Given the description of an element on the screen output the (x, y) to click on. 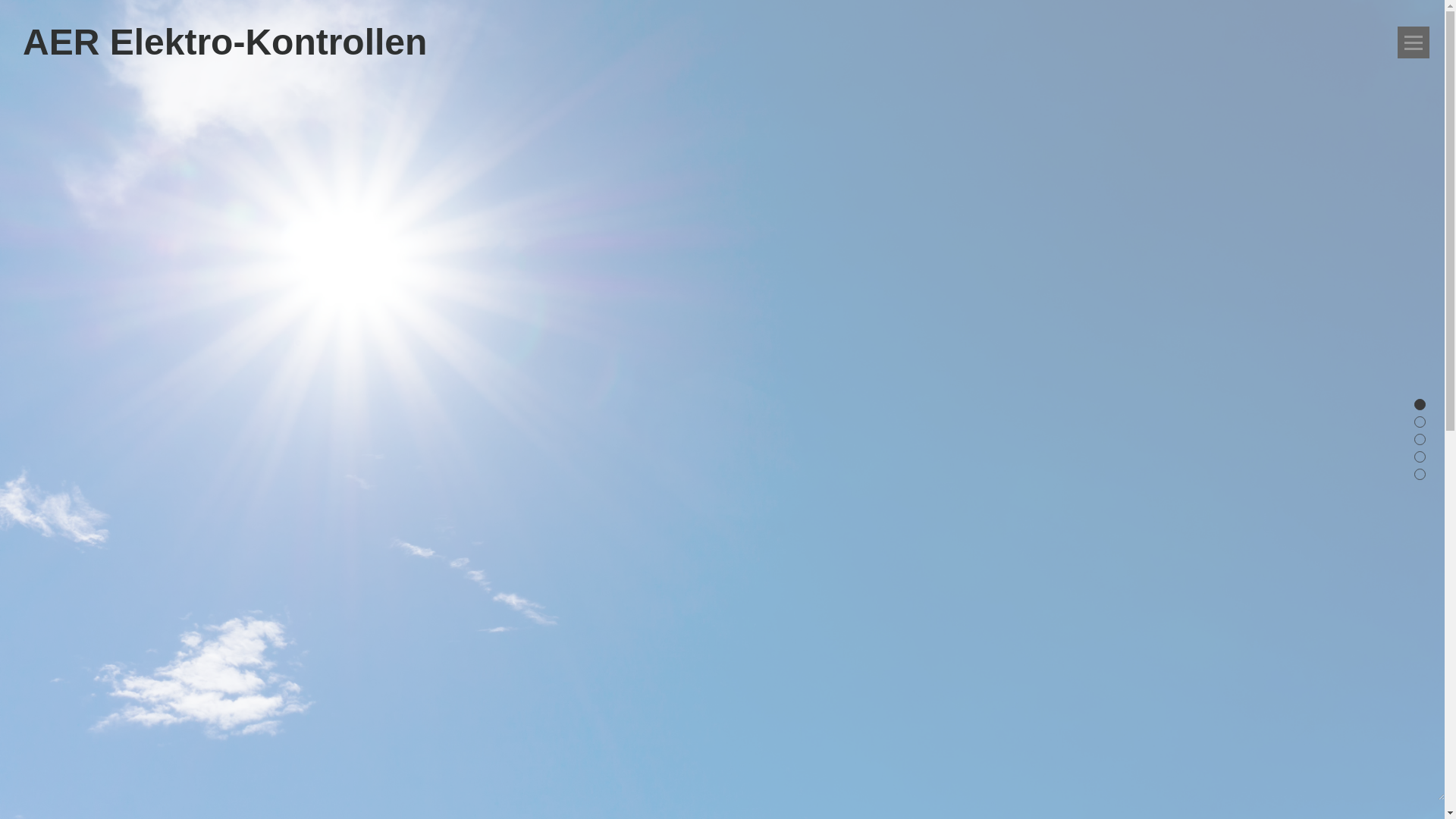
AER Elektro-Kontrollen Element type: text (224, 41)
